Given the description of an element on the screen output the (x, y) to click on. 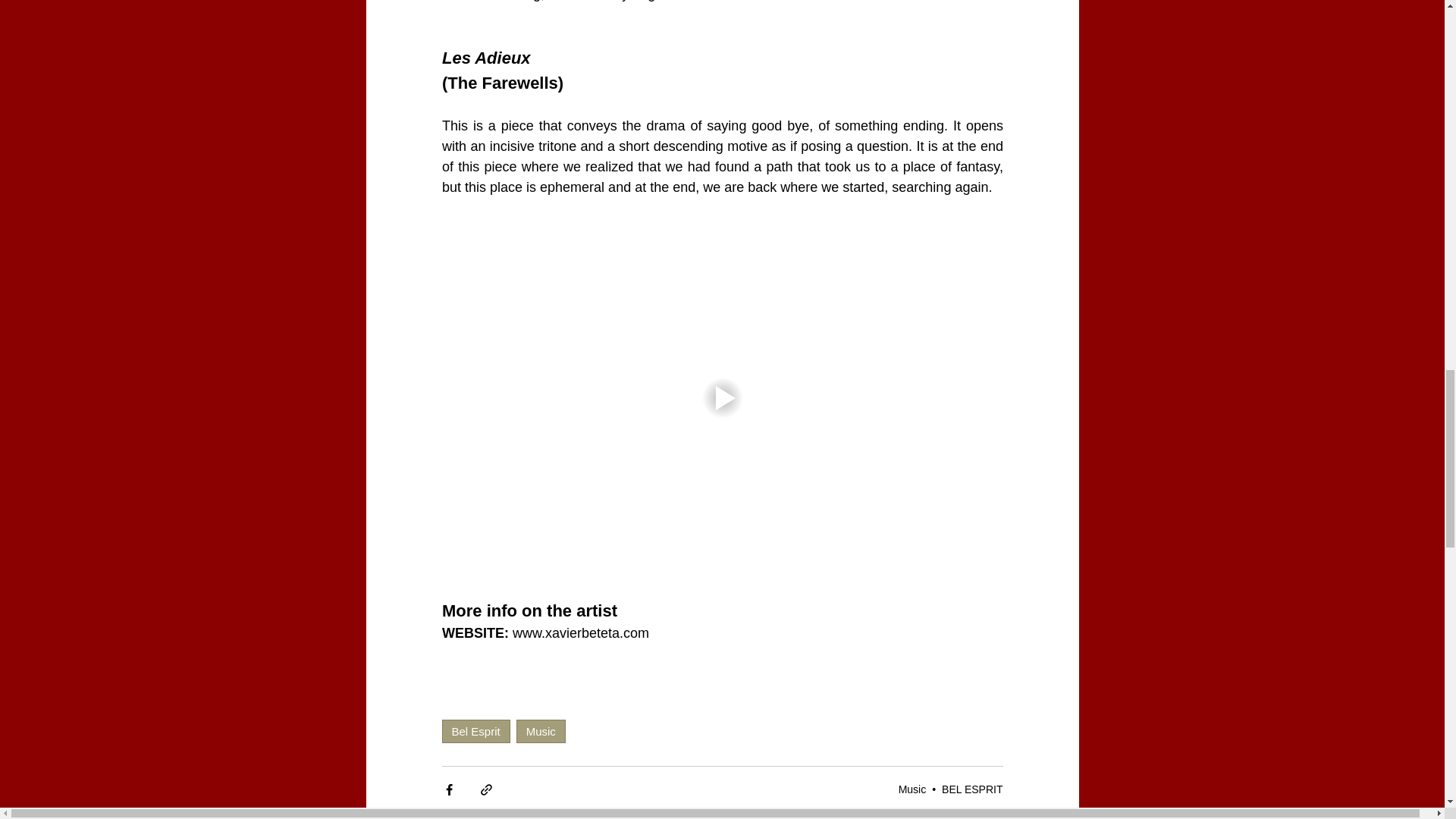
Bel Esprit (475, 730)
www.xavierbeteta.com (580, 632)
Music (541, 730)
BEL ESPRIT (972, 788)
Music (912, 788)
